Given the description of an element on the screen output the (x, y) to click on. 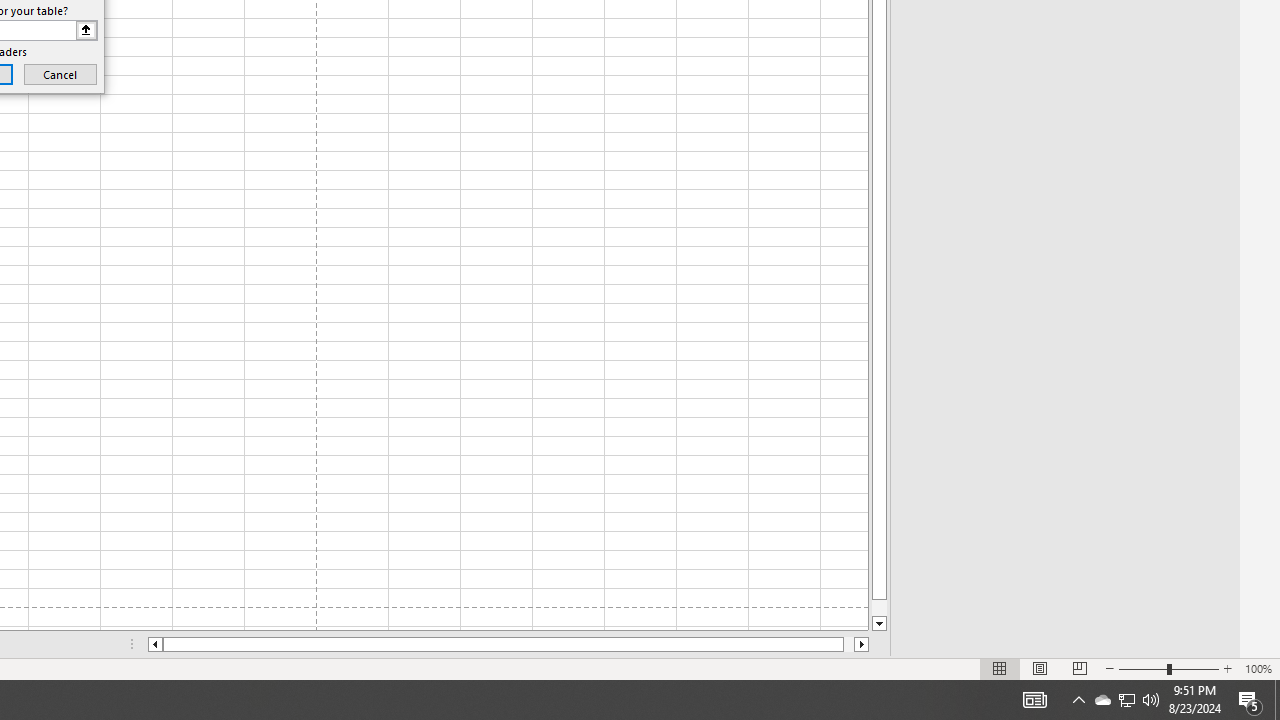
Page down (879, 607)
Normal (1000, 668)
Page right (848, 644)
Column left (153, 644)
Zoom (1168, 668)
Column right (861, 644)
Line down (879, 624)
Page Layout (1039, 668)
Zoom Out (1142, 668)
Zoom In (1227, 668)
Page Break Preview (1079, 668)
Class: NetUIScrollBar (507, 644)
